Given the description of an element on the screen output the (x, y) to click on. 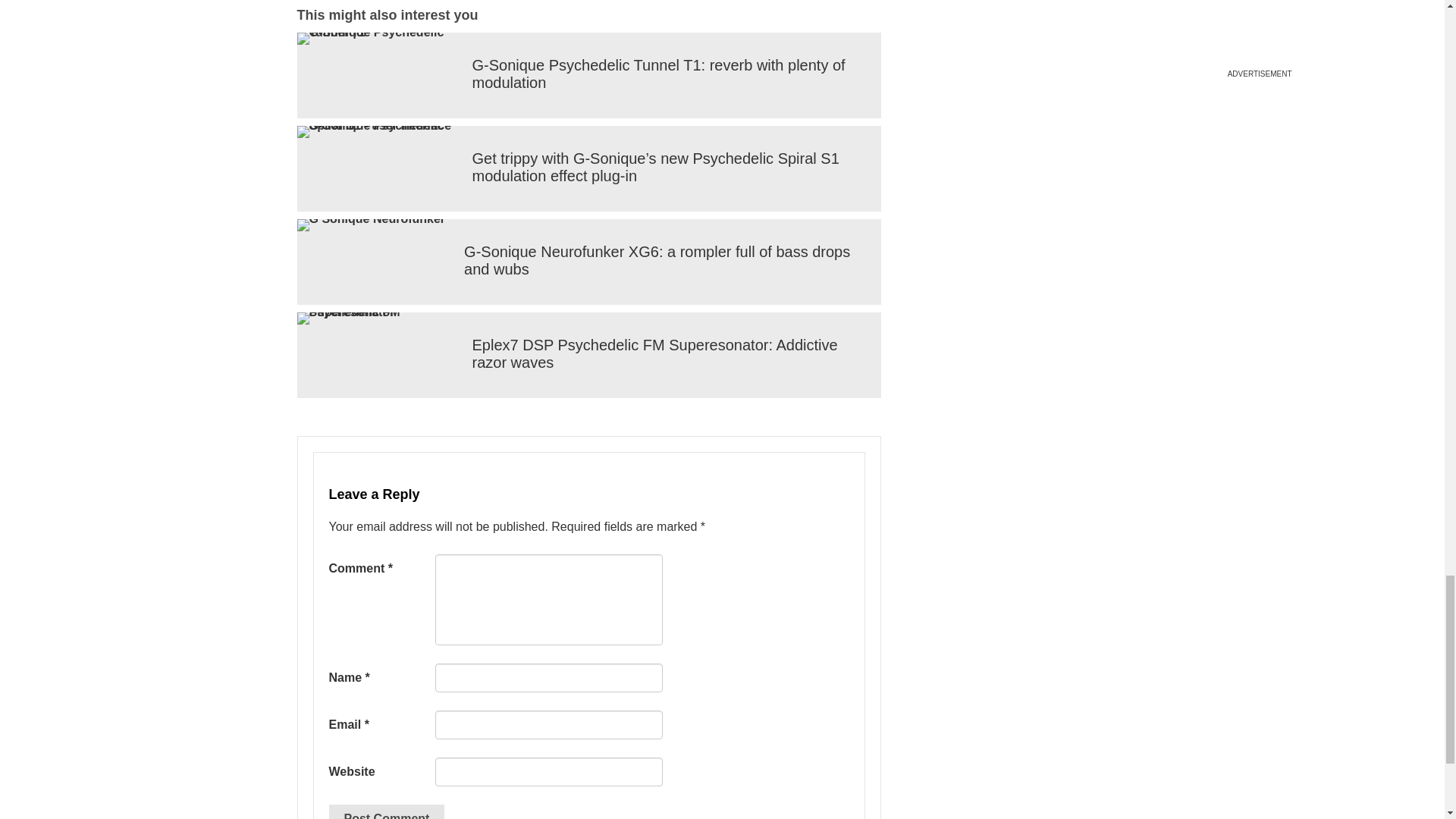
Post Comment (387, 811)
